Given the description of an element on the screen output the (x, y) to click on. 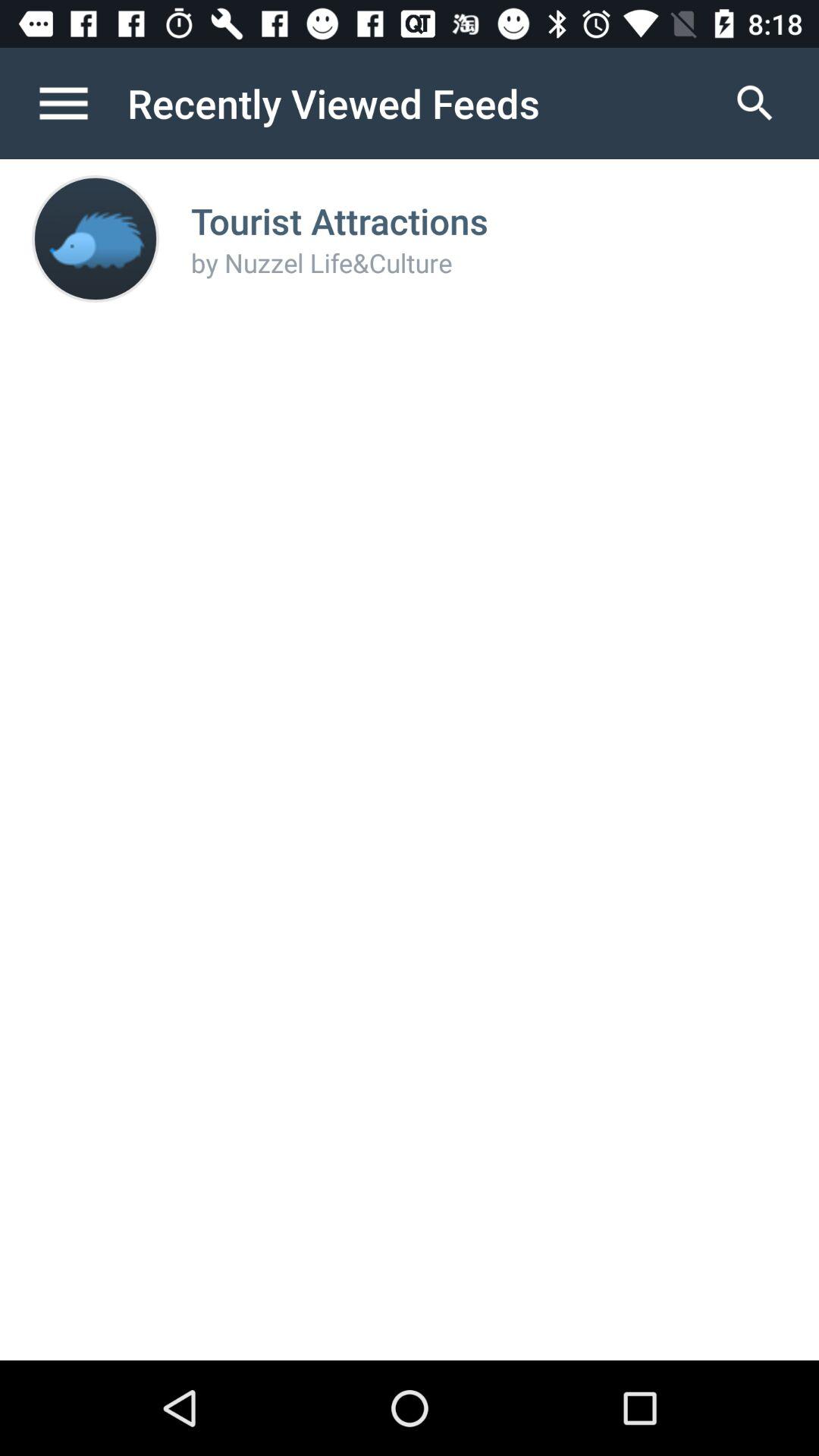
launch the icon above tourist attractions item (755, 103)
